Given the description of an element on the screen output the (x, y) to click on. 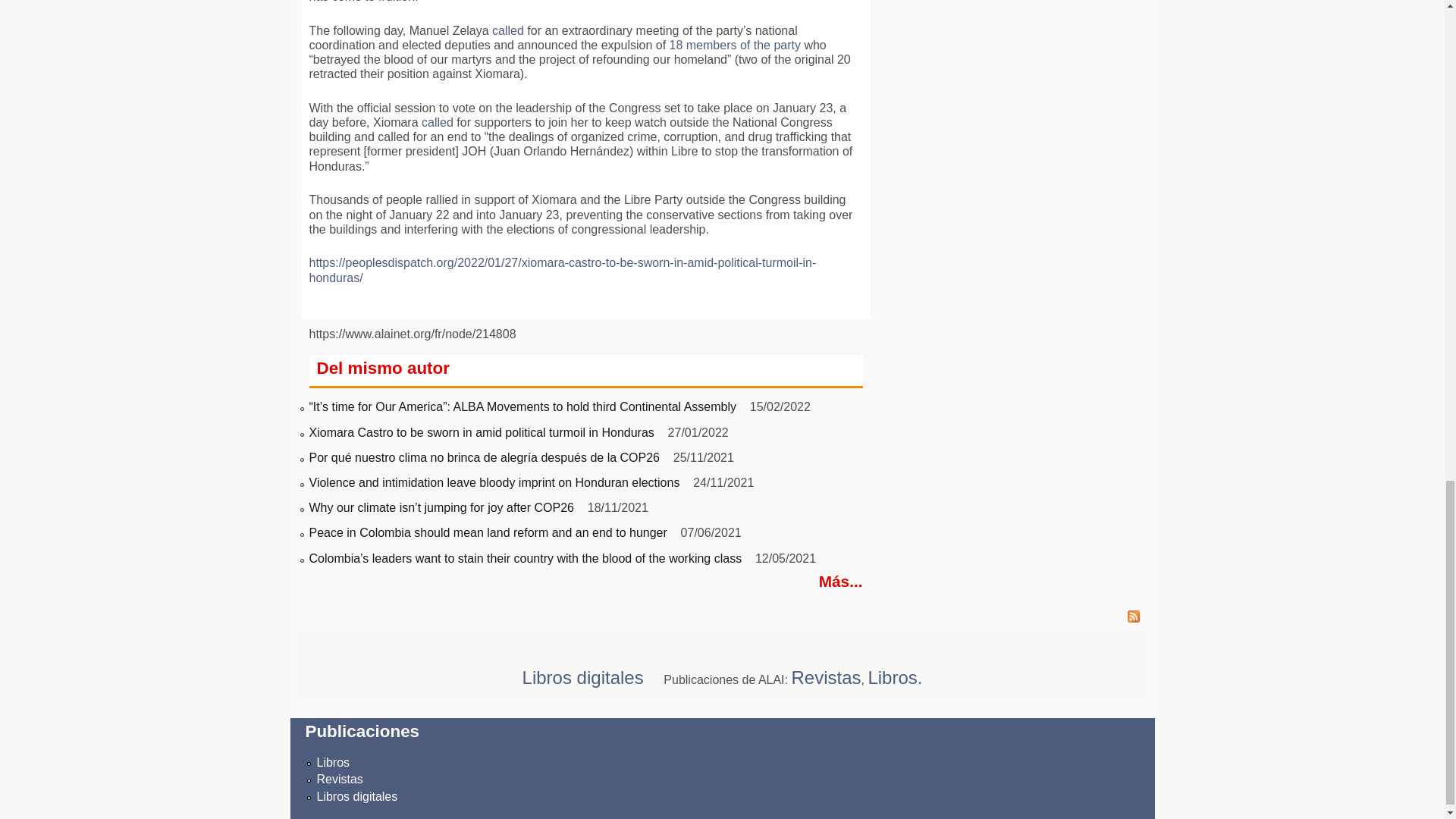
Libros de ALAI (333, 762)
Revistas (339, 779)
called (437, 122)
called (508, 30)
18 members of the party (734, 44)
